Given the description of an element on the screen output the (x, y) to click on. 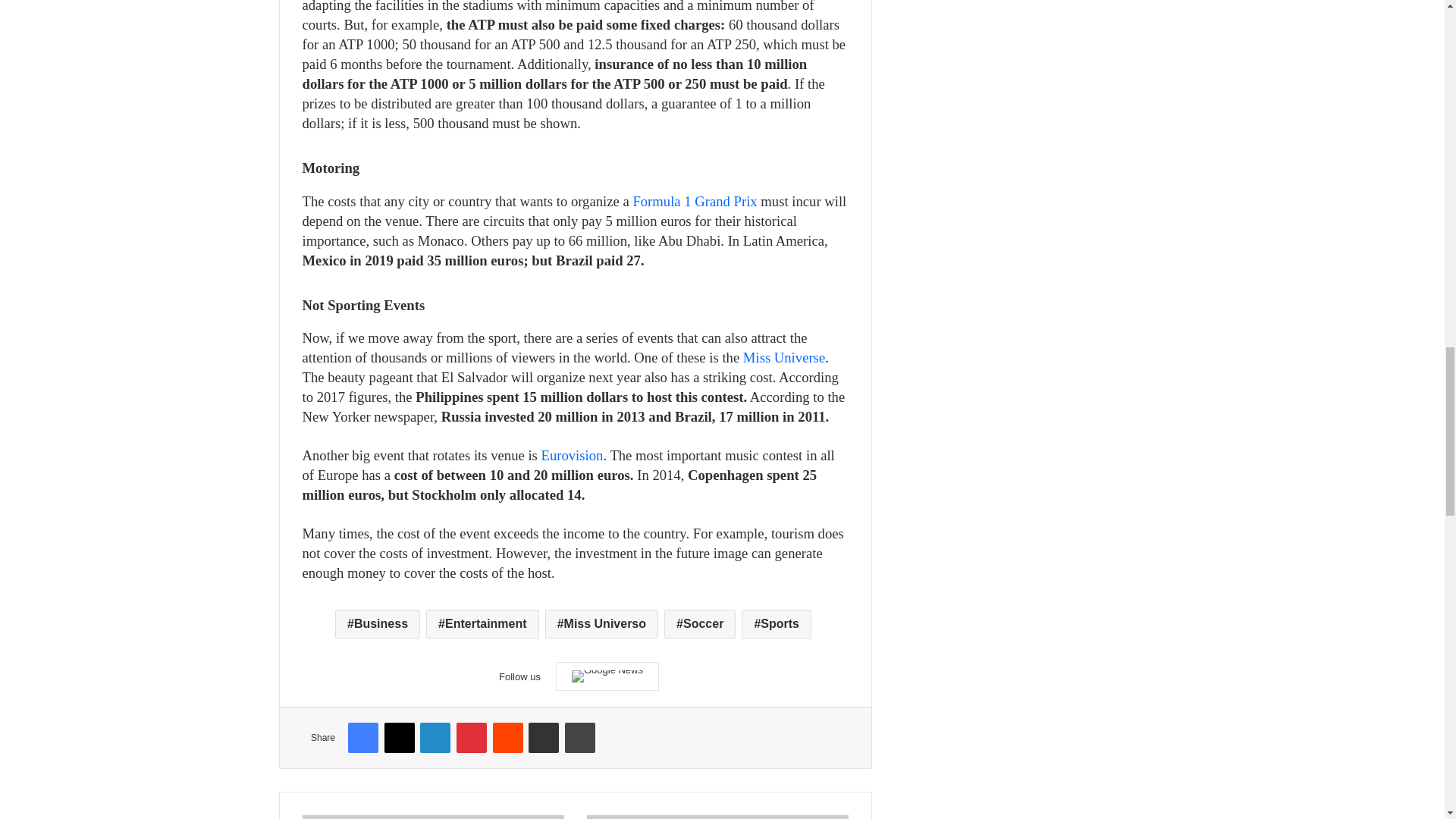
LinkedIn (434, 737)
X (399, 737)
Reddit (507, 737)
Facebook (362, 737)
Google News (607, 676)
Share via Email (543, 737)
Pinterest (471, 737)
